Given the description of an element on the screen output the (x, y) to click on. 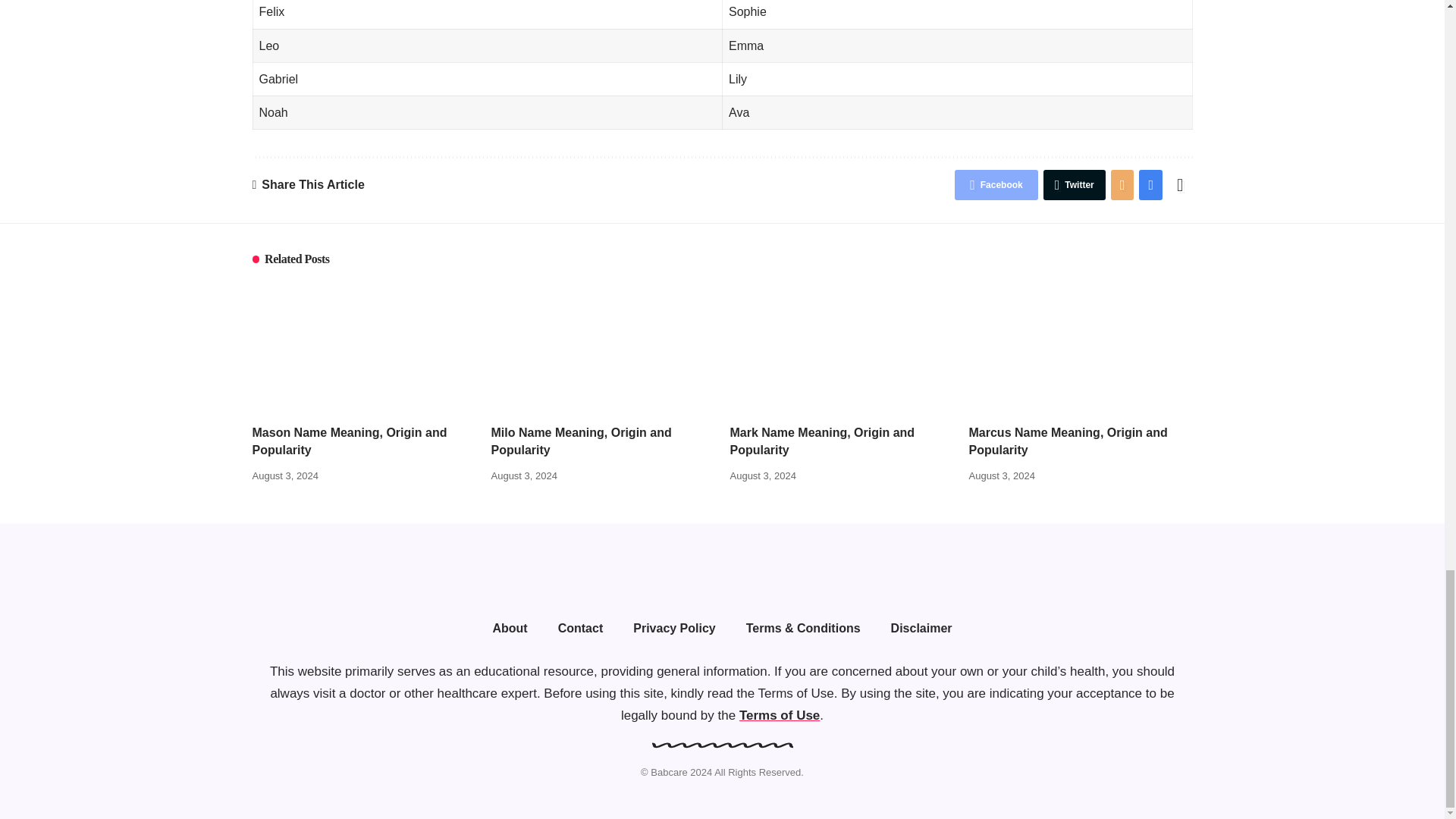
Mark Name Meaning, Origin and Popularity (841, 347)
Milo Name Meaning, Origin and Popularity (603, 347)
Mason Name Meaning, Origin and Popularity (363, 347)
Marcus Name Meaning, Origin and Popularity (1080, 347)
